Given the description of an element on the screen output the (x, y) to click on. 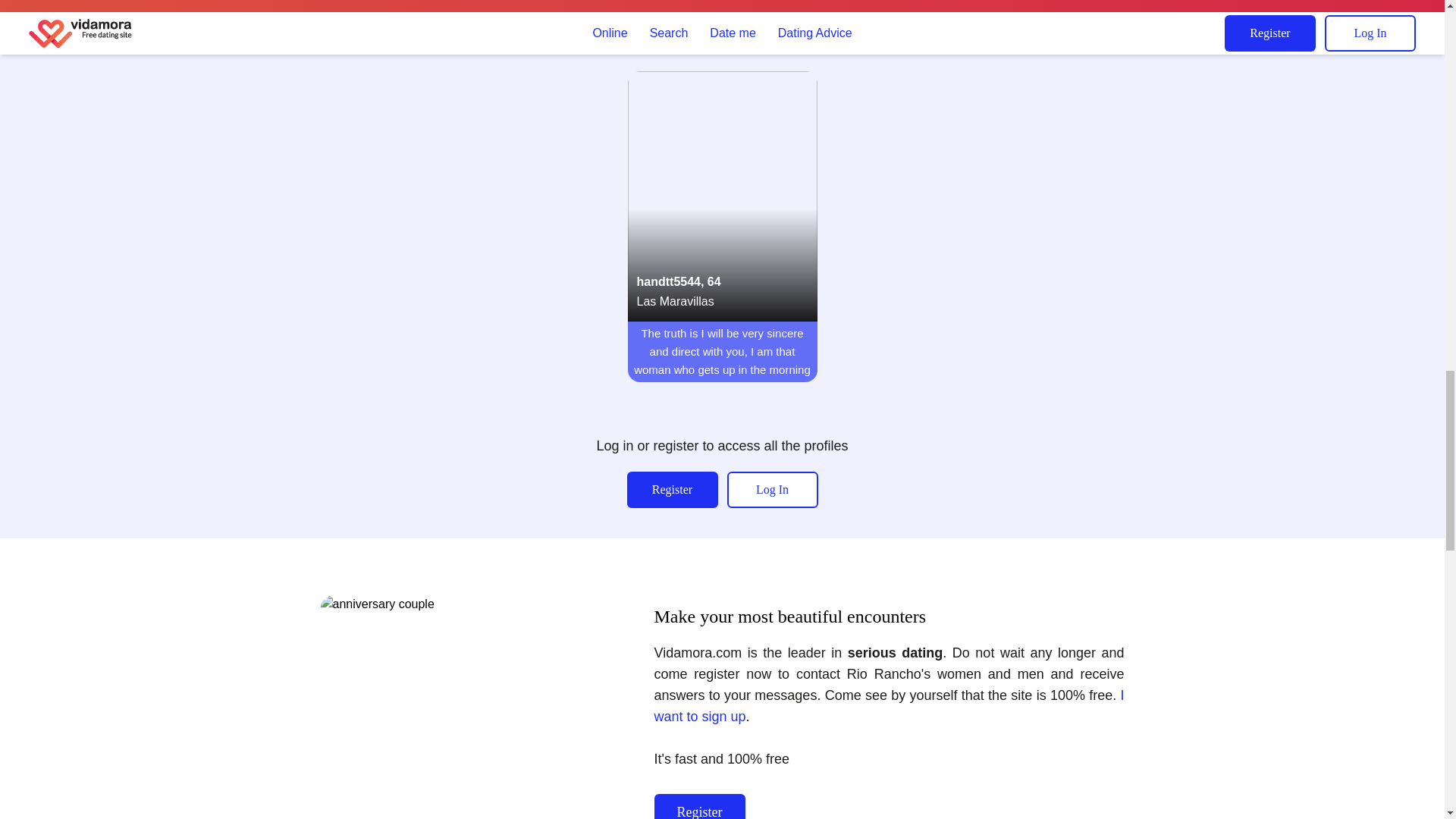
Register (698, 806)
Log In (771, 489)
I want to sign up (888, 705)
Register (671, 489)
